Given the description of an element on the screen output the (x, y) to click on. 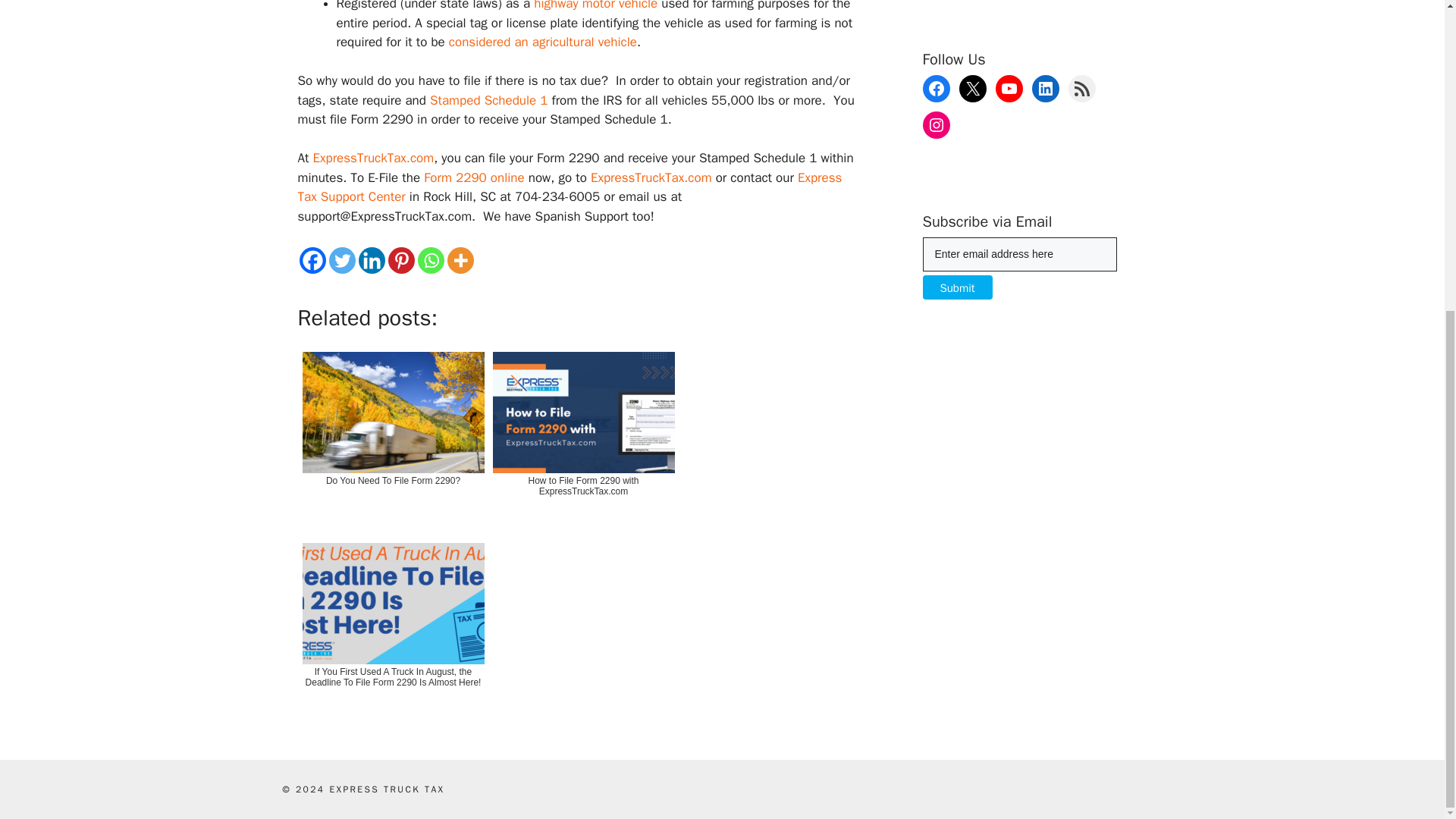
Twitter (342, 260)
Facebook (311, 260)
Pinterest (401, 260)
Enter email address here (1018, 254)
Whatsapp (430, 260)
Submit (956, 287)
Linkedin (371, 260)
